Given the description of an element on the screen output the (x, y) to click on. 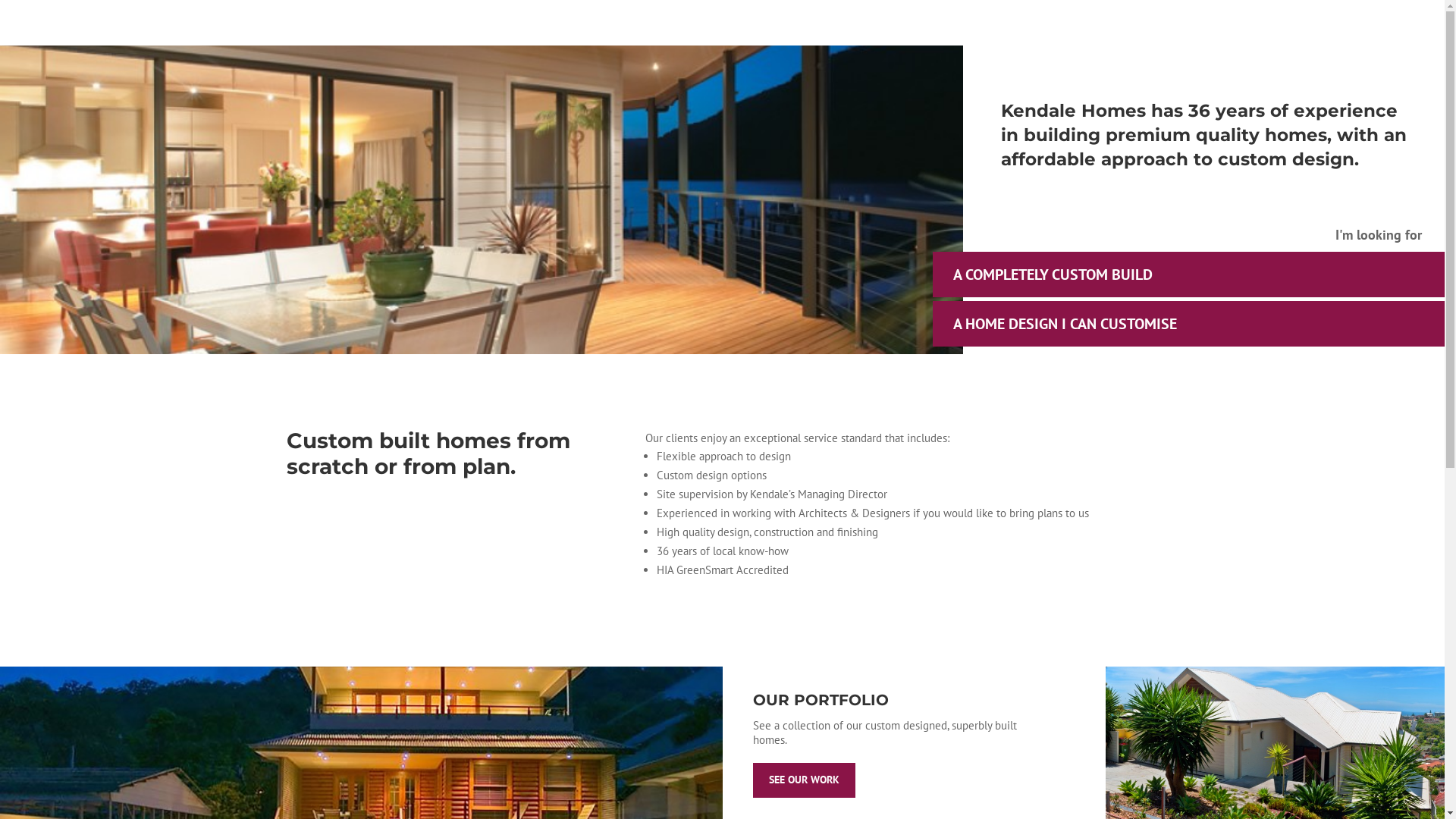
SEE OUR WORK Element type: text (803, 779)
A COMPLETELY CUSTOM BUILD Element type: text (1188, 274)
A HOME DESIGN I CAN CUSTOMISE Element type: text (1188, 323)
